Given the description of an element on the screen output the (x, y) to click on. 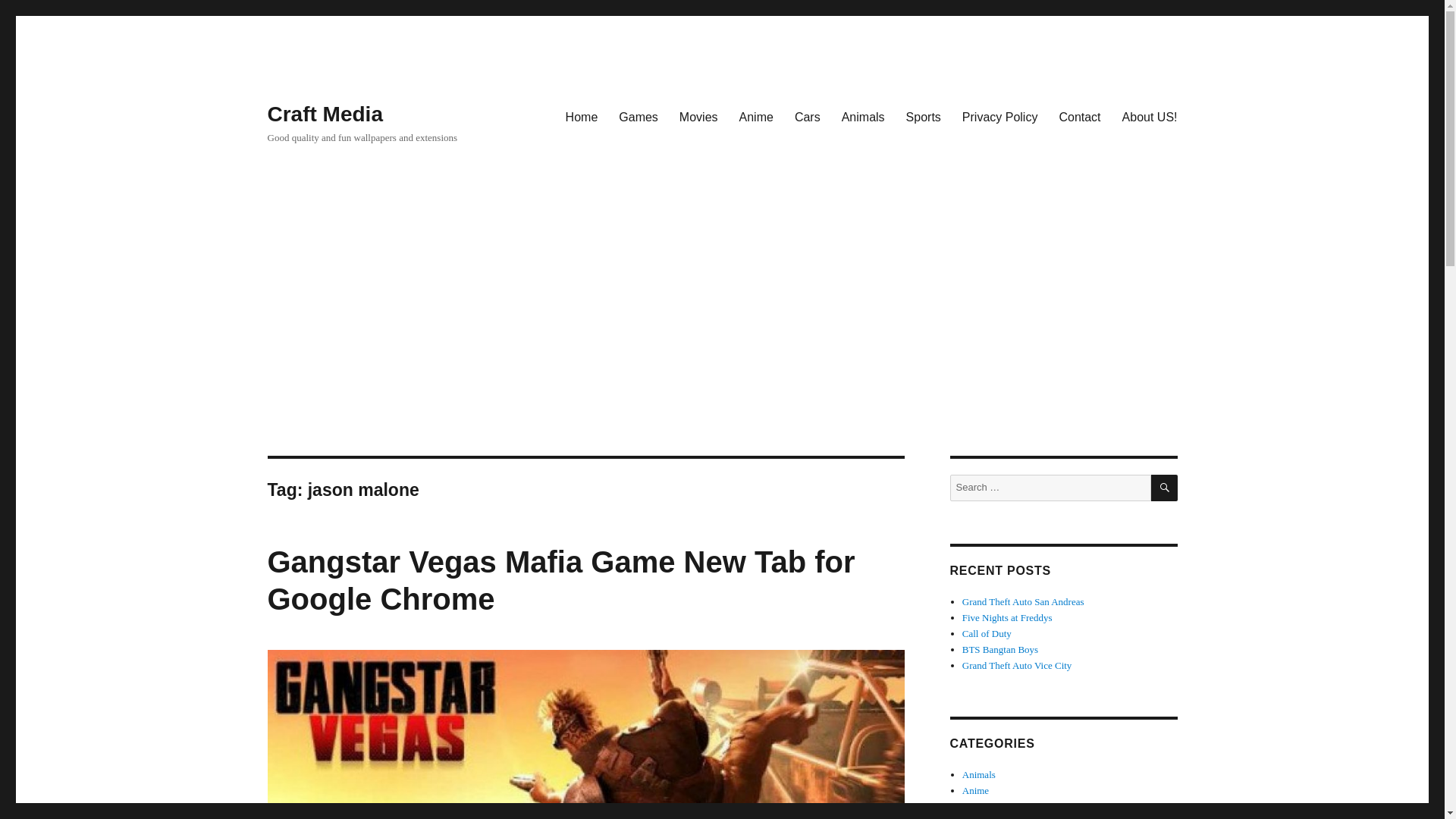
Gangstar Vegas Mafia Game New Tab for Google Chrome (560, 580)
Grand Theft Auto Vice City (1016, 665)
Anime (756, 116)
Anime (975, 790)
SEARCH (1164, 488)
Privacy Policy (1000, 116)
Games (976, 817)
Grand Theft Auto San Andreas (1023, 601)
Cars (970, 806)
Cars (807, 116)
Games (638, 116)
BTS Bangtan Boys (1000, 649)
Call of Duty (986, 633)
Sports (923, 116)
Animals (978, 774)
